Given the description of an element on the screen output the (x, y) to click on. 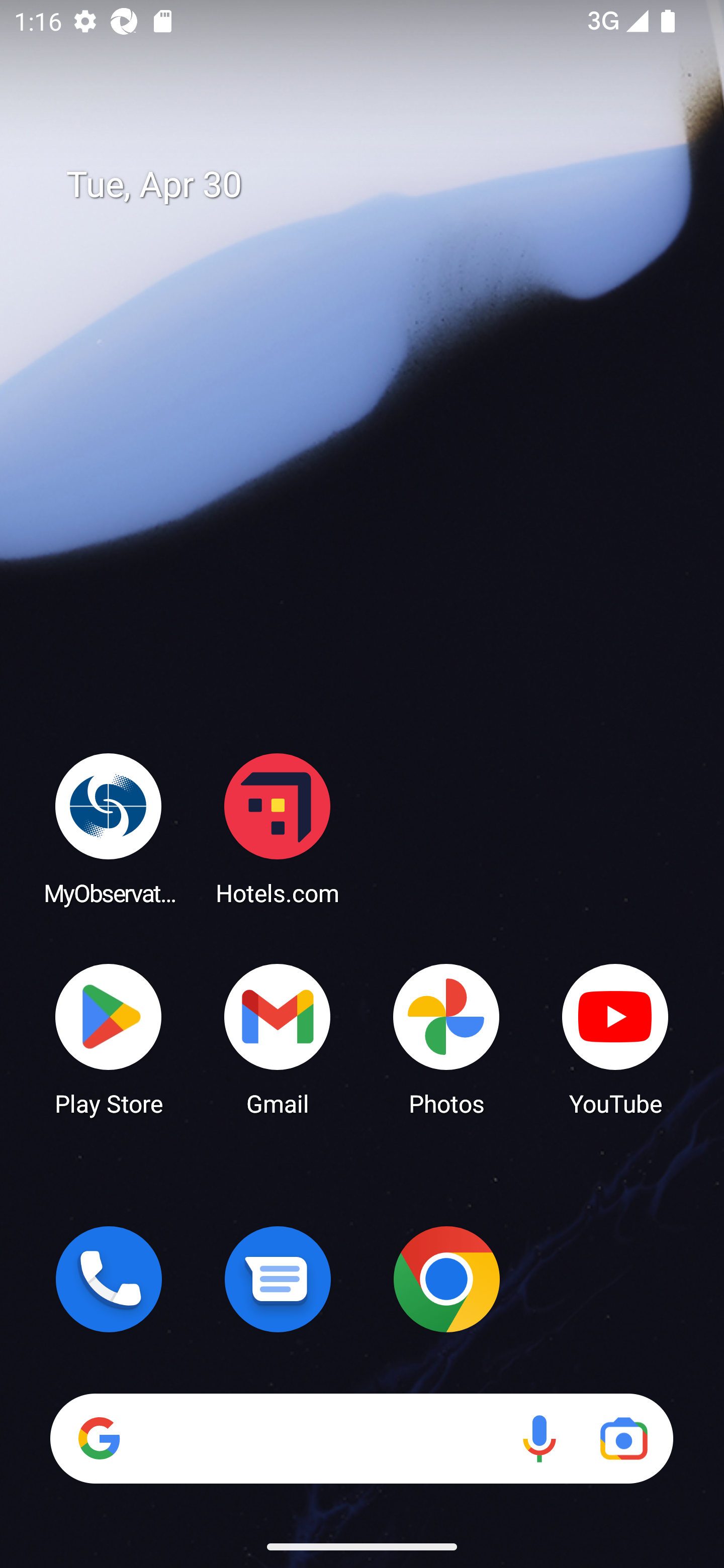
Tue, Apr 30 (375, 184)
MyObservatory (108, 828)
Hotels.com (277, 828)
Play Store (108, 1038)
Gmail (277, 1038)
Photos (445, 1038)
YouTube (615, 1038)
Phone (108, 1279)
Messages (277, 1279)
Chrome (446, 1279)
Voice search (539, 1438)
Google Lens (623, 1438)
